Given the description of an element on the screen output the (x, y) to click on. 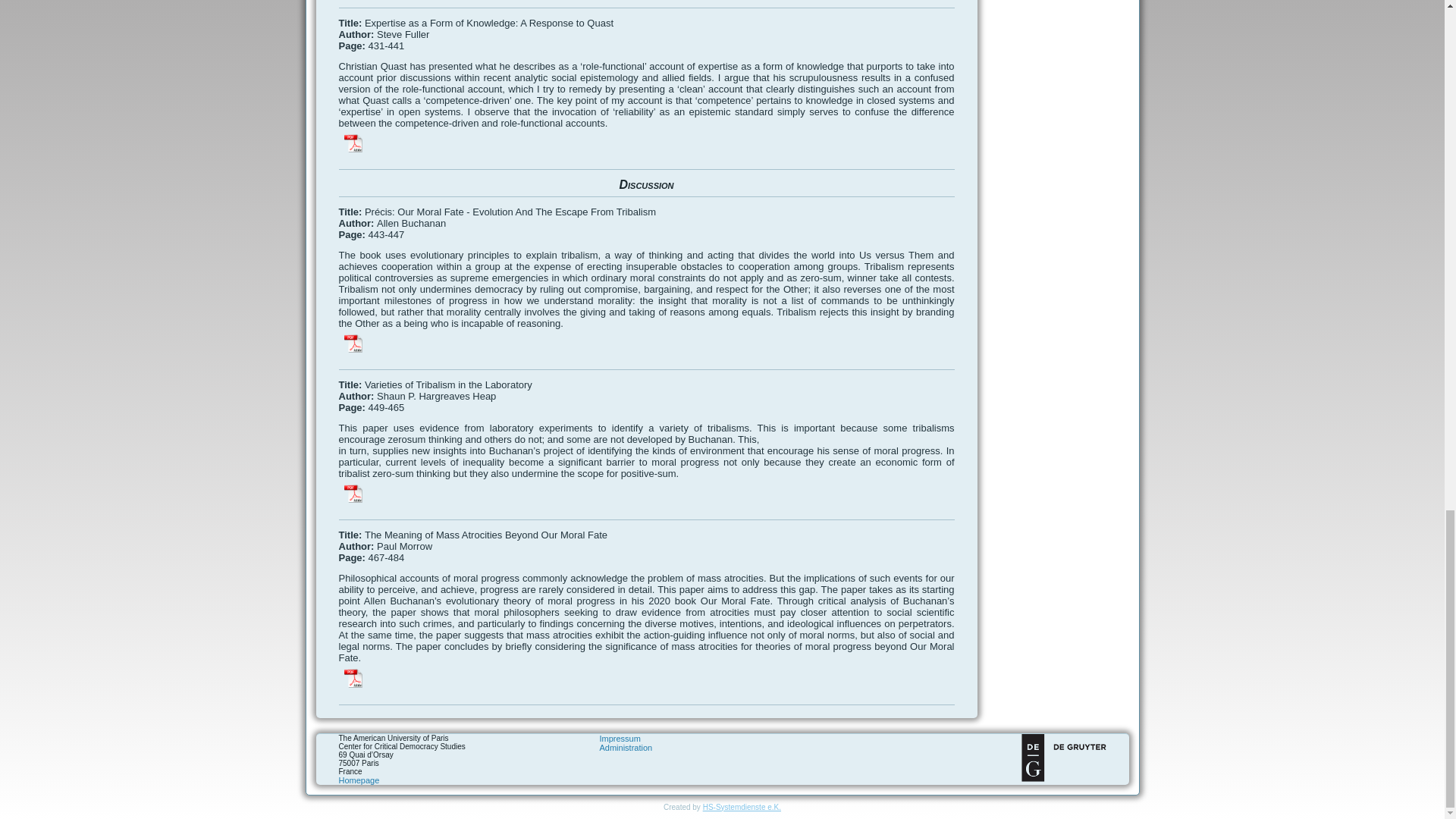
Ganzes Abstract als Download. (352, 343)
Ganzes Abstract als Download. (352, 143)
Ganzes Abstract als Download. (352, 678)
Ganzes Abstract als Download. (352, 493)
